Given the description of an element on the screen output the (x, y) to click on. 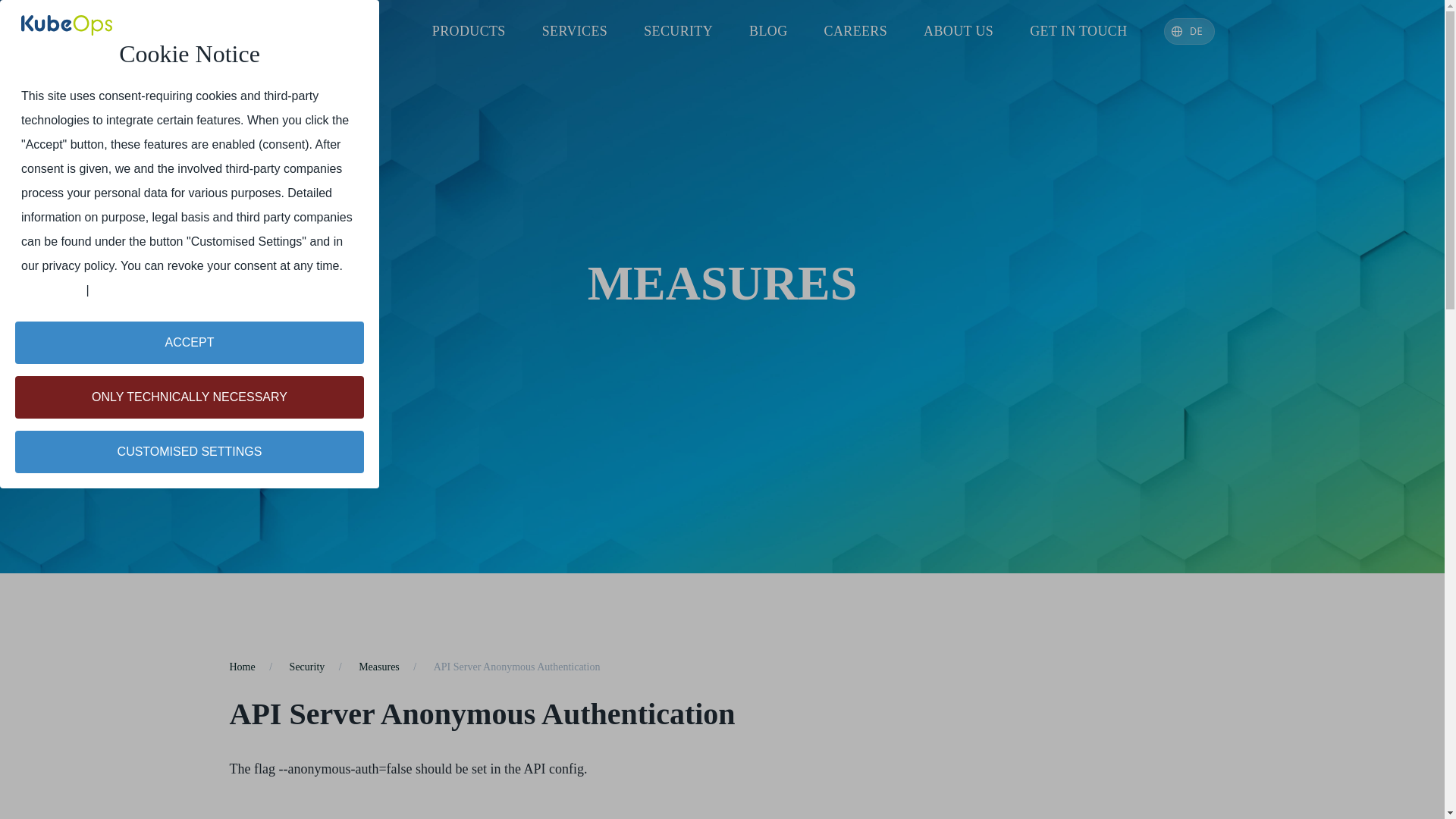
CAREERS (855, 30)
SECURITY (678, 30)
GET IN TOUCH (1077, 30)
SERVICES (575, 30)
BLOG (767, 30)
PRODUCTS (468, 30)
Home (241, 666)
ABOUT US (958, 30)
Security (306, 666)
